Given the description of an element on the screen output the (x, y) to click on. 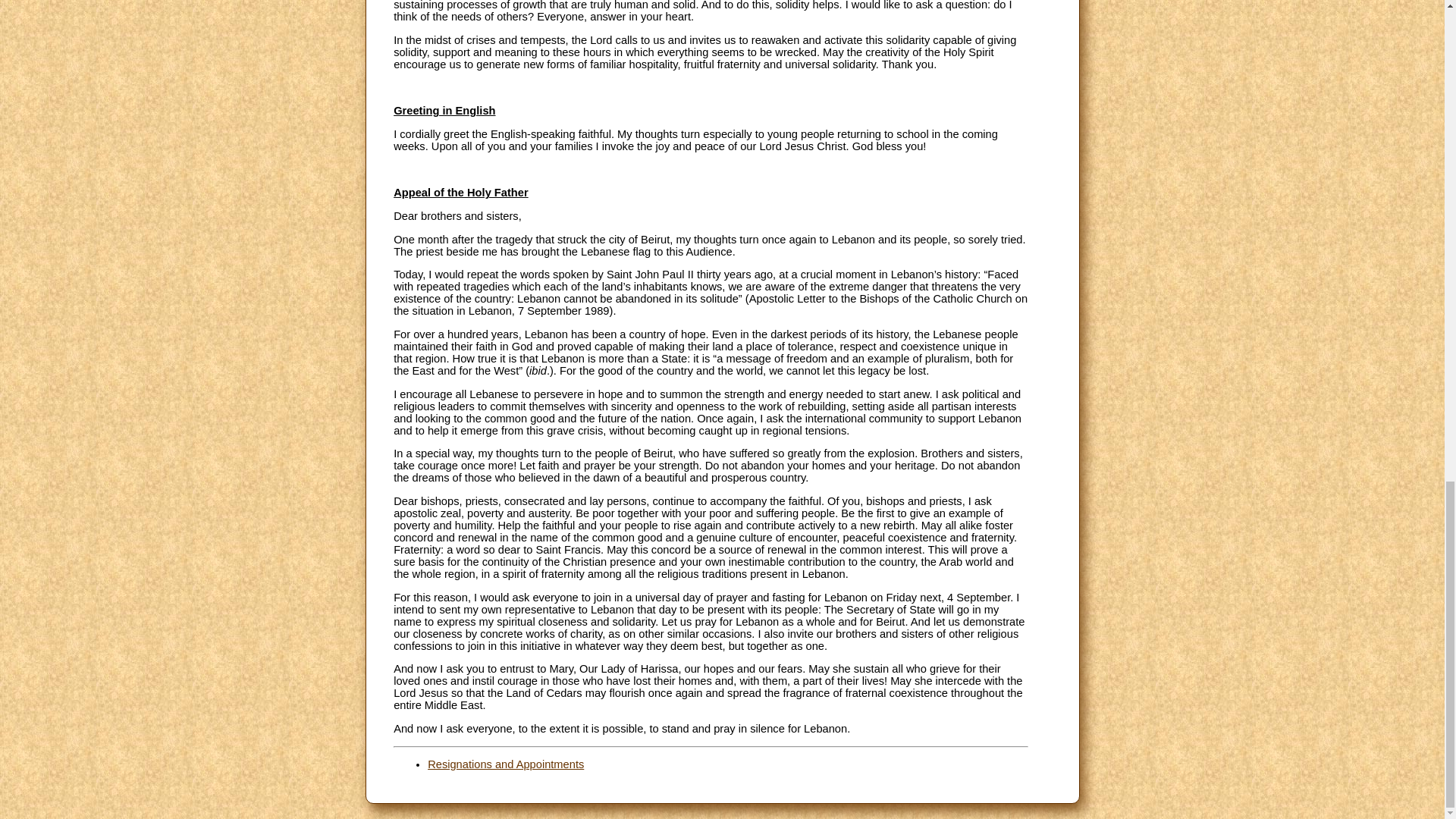
Resignations and Appointments (505, 764)
